Given the description of an element on the screen output the (x, y) to click on. 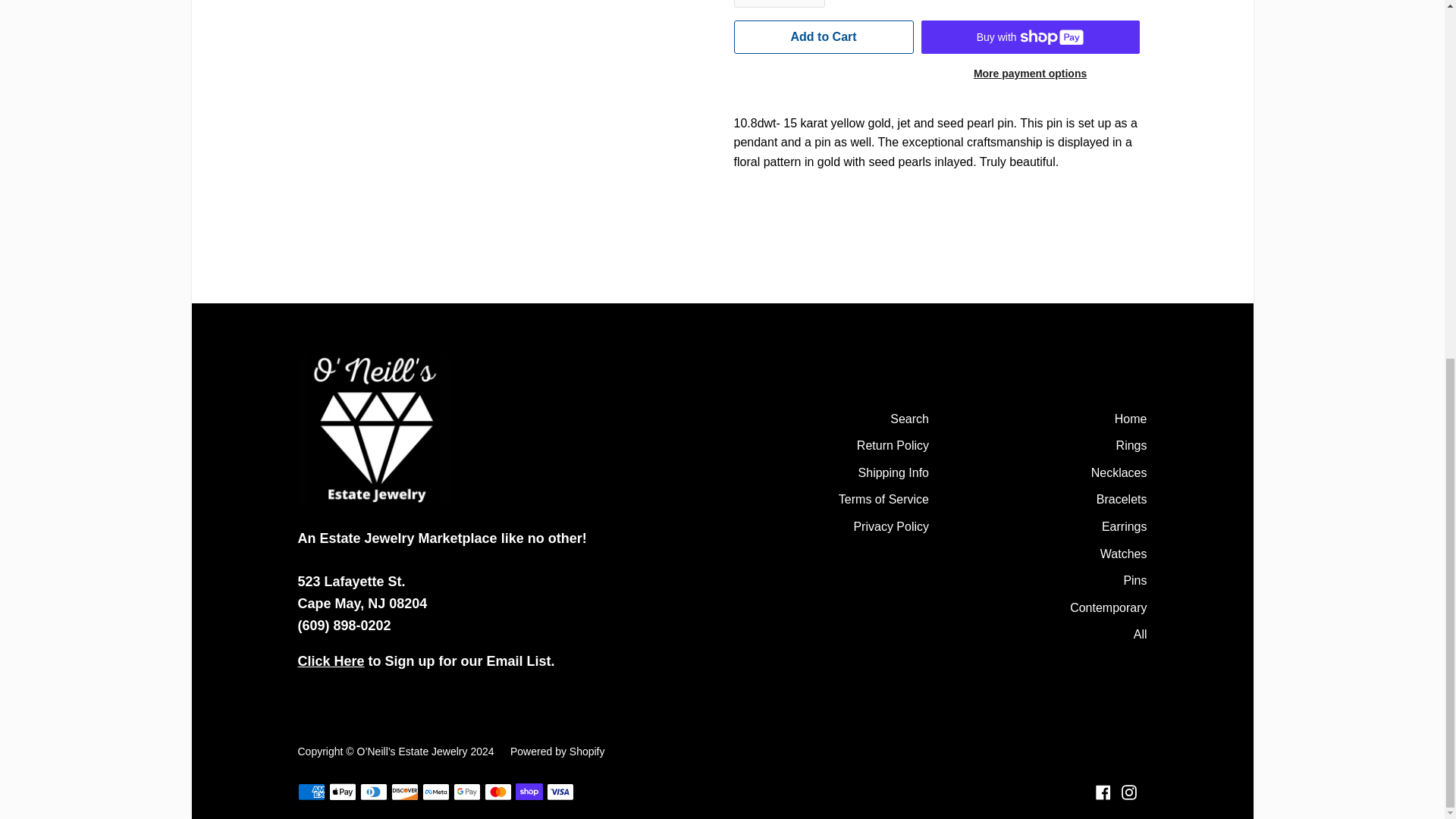
Shipping Info (893, 474)
Search (908, 420)
Add to Cart (823, 37)
1 (779, 3)
Click Here (330, 661)
Return Policy (892, 446)
